Given the description of an element on the screen output the (x, y) to click on. 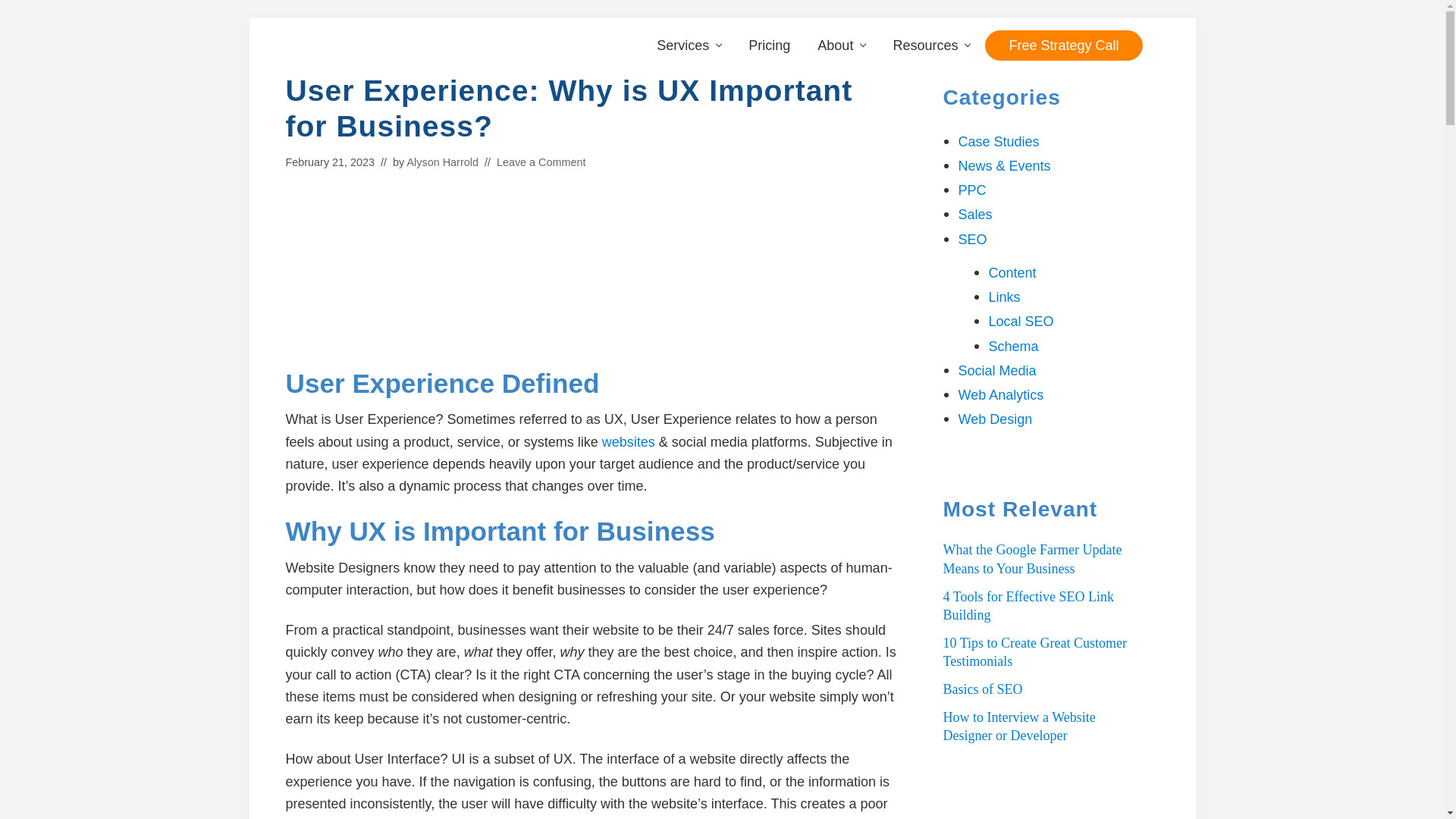
Services (689, 45)
About (841, 45)
Pricing (769, 45)
Resources (930, 45)
Leave a Comment (541, 162)
Free Strategy Call (1063, 45)
